Given the description of an element on the screen output the (x, y) to click on. 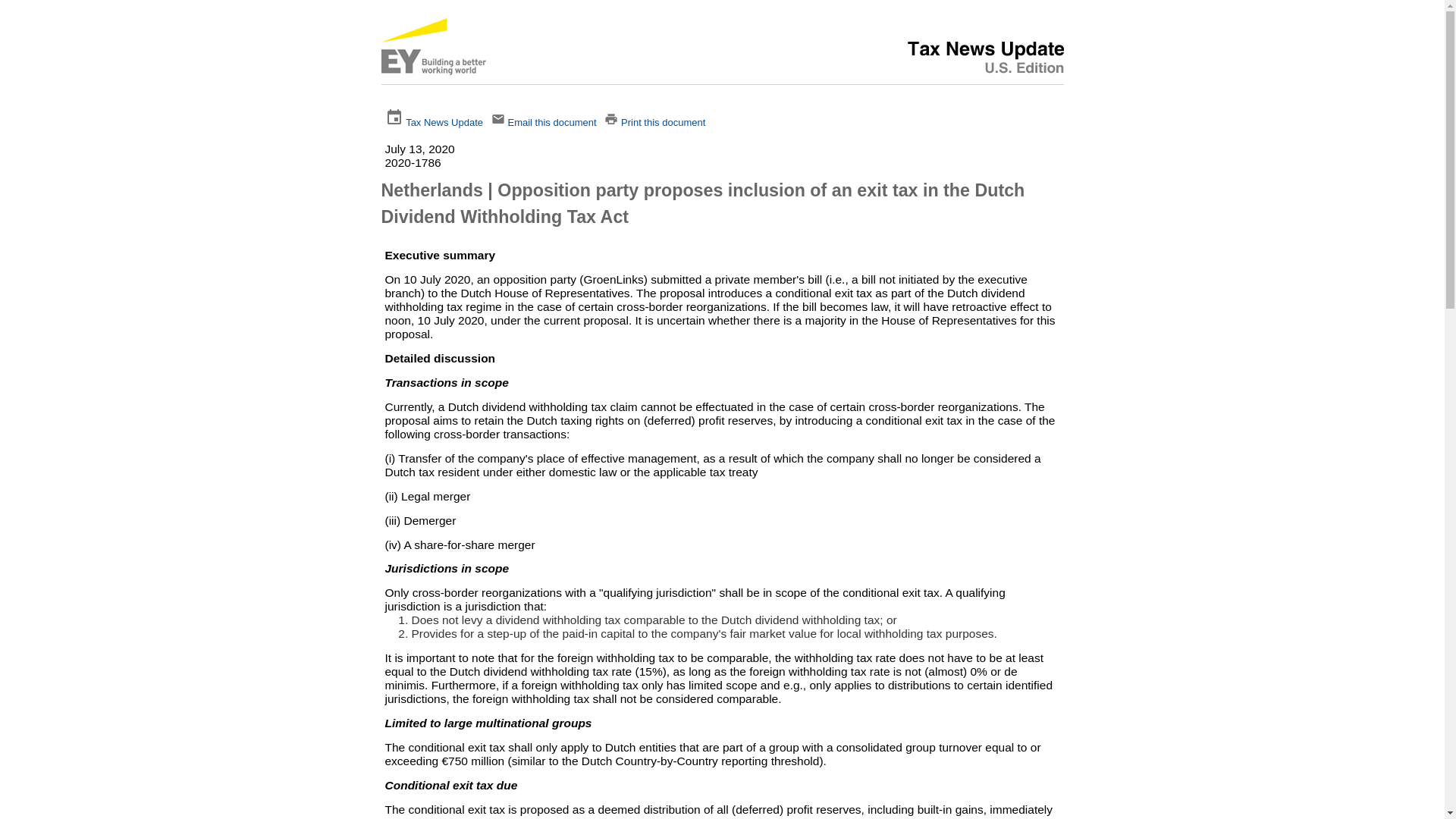
Tax News Update (444, 122)
Email this document (550, 122)
Print this document (662, 122)
